Given the description of an element on the screen output the (x, y) to click on. 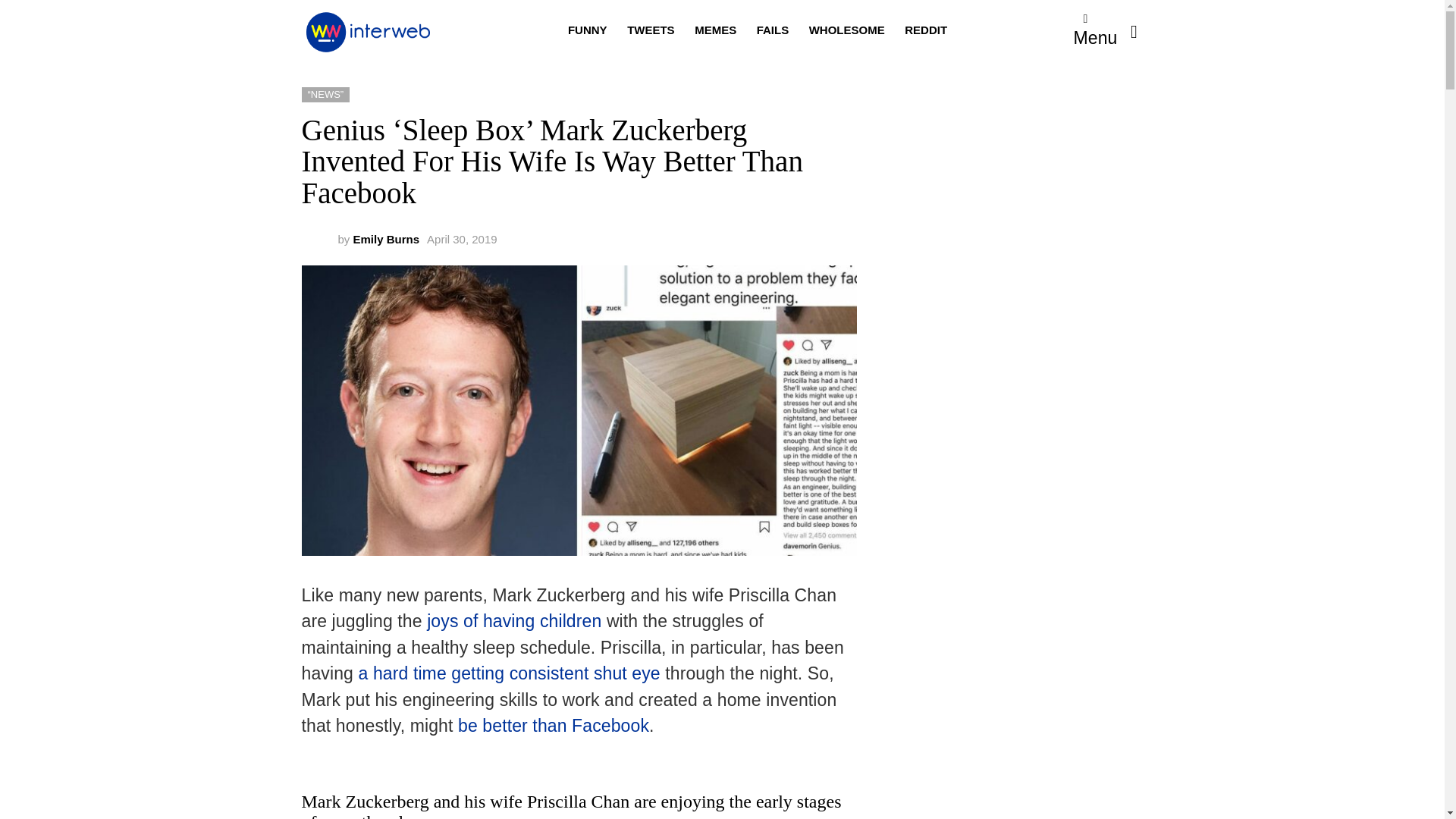
Posts by Emily Burns (386, 238)
Menu (1096, 31)
be better than Facebook (553, 725)
a hard time getting consistent shut eye (508, 673)
Emily Burns (386, 238)
REDDIT (925, 29)
TWEETS (651, 29)
FUNNY (587, 29)
joys of having children (513, 620)
WHOLESOME (847, 29)
